Given the description of an element on the screen output the (x, y) to click on. 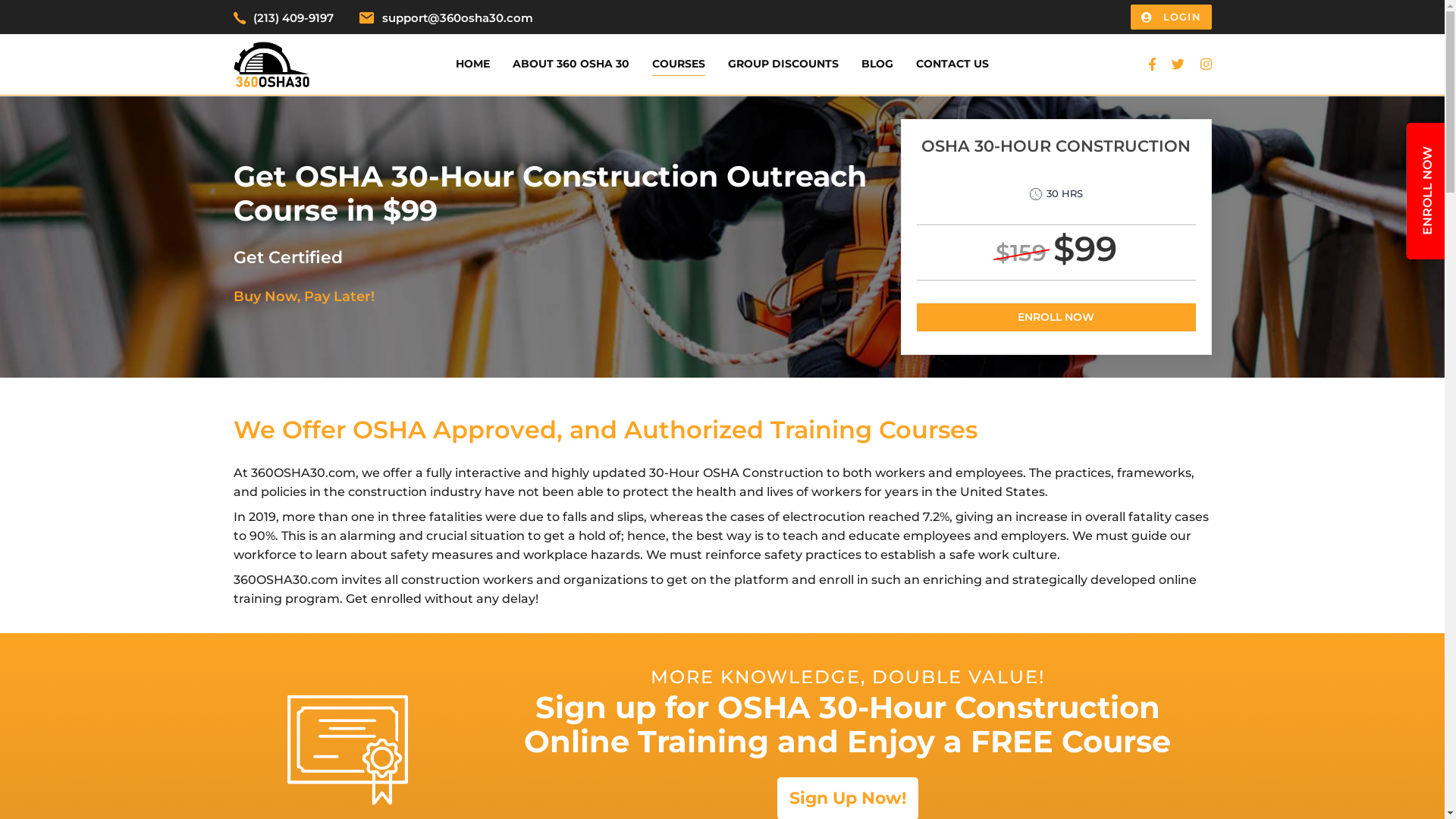
HOME Element type: text (472, 64)
ABOUT 360 OSHA 30 Element type: text (570, 64)
Buy Now, Pay Later! Element type: text (303, 296)
ENROLL NOW Element type: text (1055, 317)
OSHA 30-HOUR CONSTRUCTION Element type: text (1055, 159)
BLOG Element type: text (877, 64)
GROUP DISCOUNTS Element type: text (783, 64)
(213) 409-9197 Element type: text (293, 17)
LOGIN Element type: text (1170, 16)
CONTACT US Element type: text (952, 64)
COURSES Element type: text (678, 64)
support@360osha30.com Element type: text (457, 17)
